Given the description of an element on the screen output the (x, y) to click on. 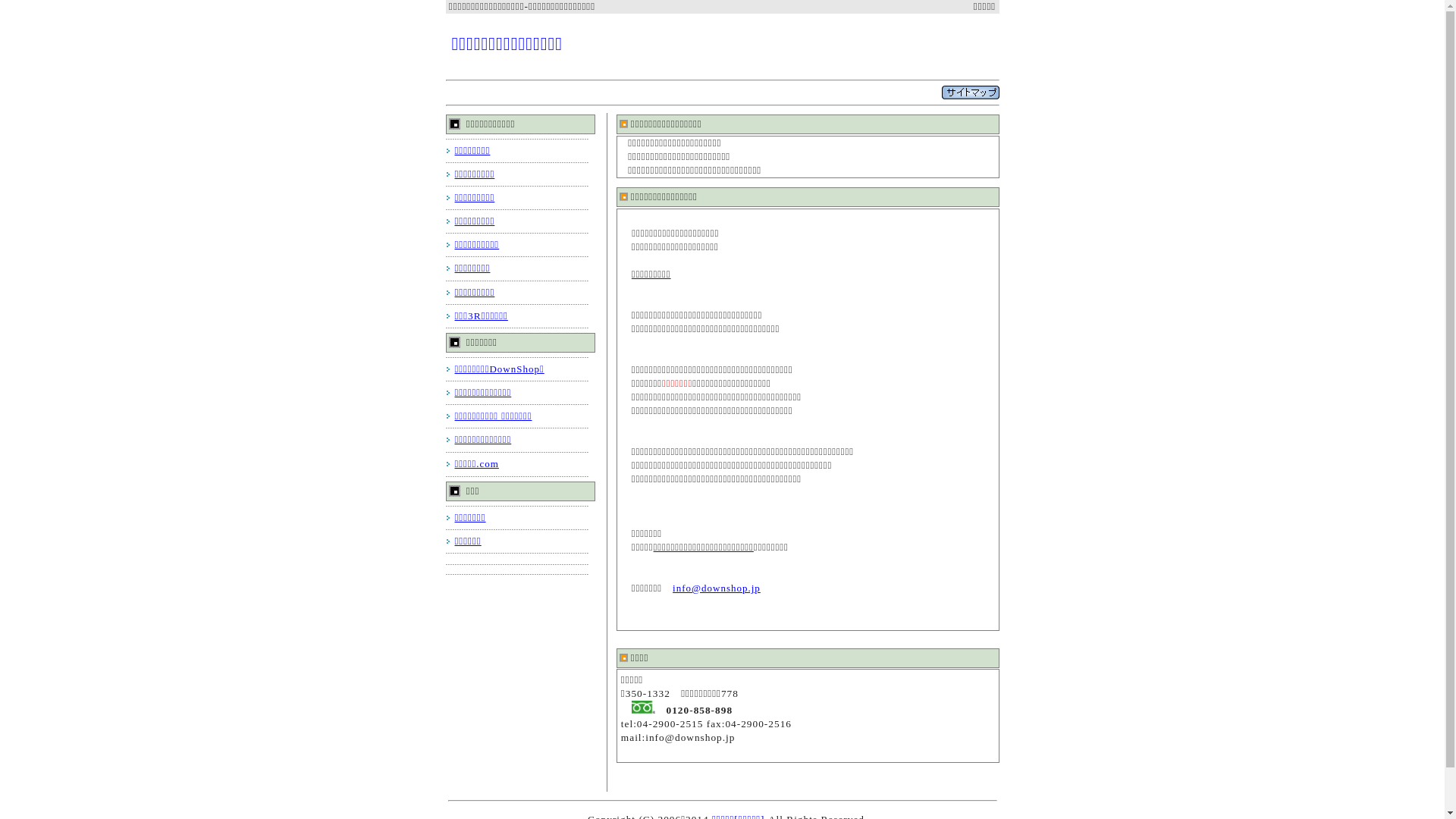
info@downshop.jp Element type: text (716, 587)
